Given the description of an element on the screen output the (x, y) to click on. 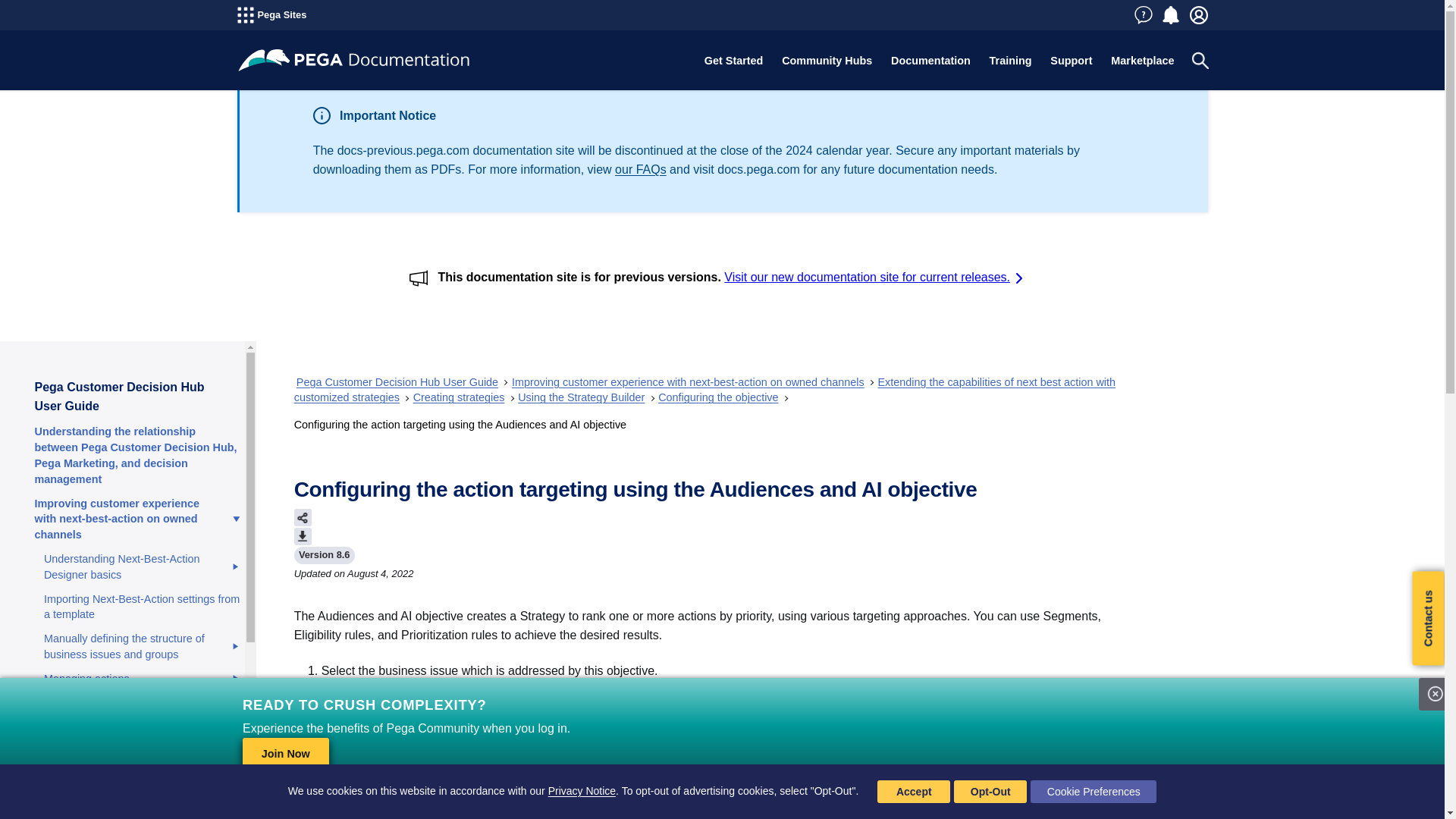
Get Started (732, 60)
Toggle Search Panel (1200, 60)
Community Hubs (827, 60)
